Given the description of an element on the screen output the (x, y) to click on. 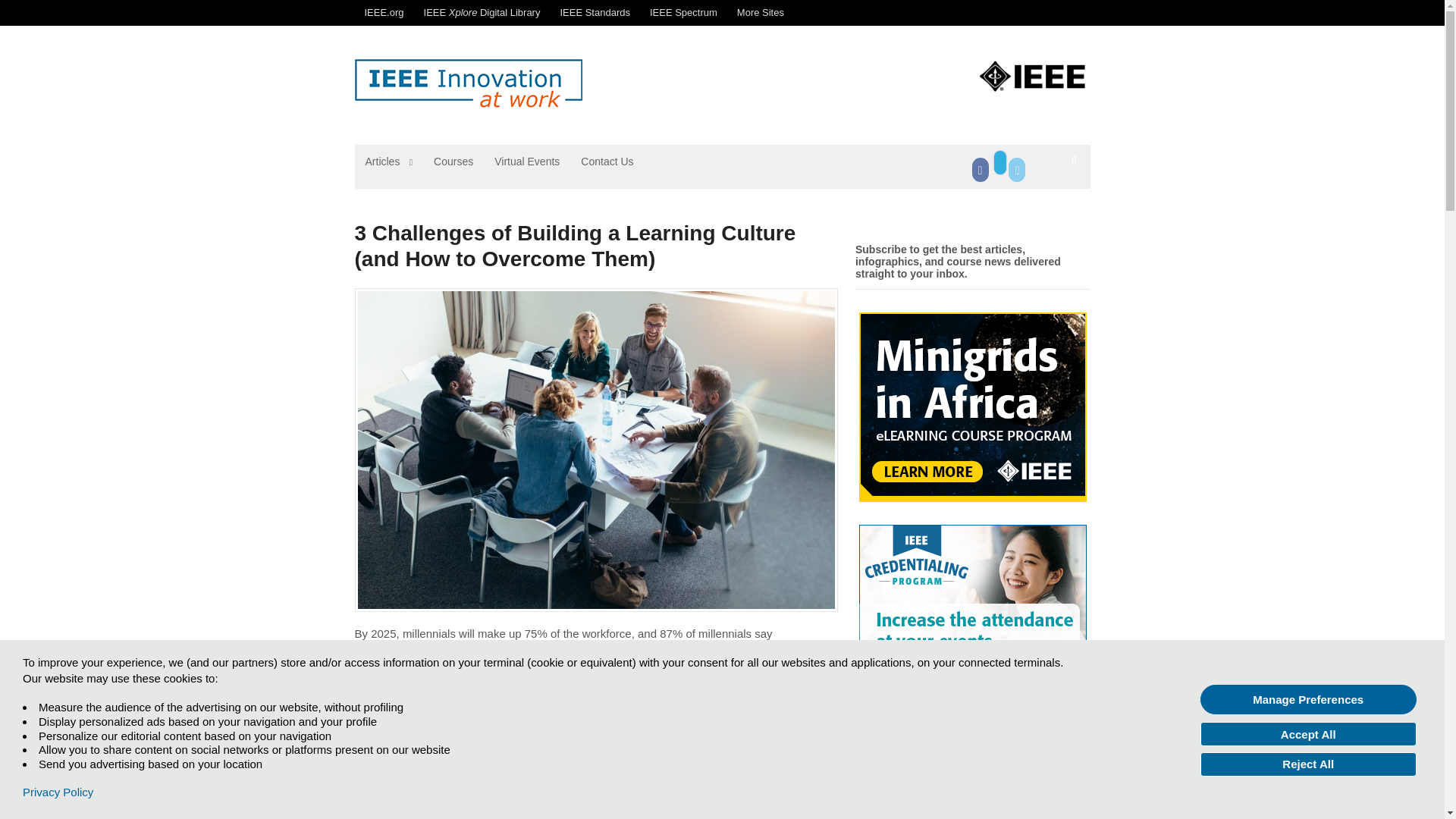
More Sites (759, 12)
IEEE (1033, 76)
Accept All (1307, 733)
Preparing your organization for emerging technologies (468, 102)
Privacy Policy (58, 792)
Manage Preferences (1307, 699)
LinkedIn (1018, 170)
Reject All (1307, 764)
Search (1075, 198)
staying relevant (466, 667)
Articles (389, 161)
Courses (453, 161)
Contact Us (606, 161)
IEEE Xplore Digital Library (481, 12)
Twitter (1000, 170)
